Given the description of an element on the screen output the (x, y) to click on. 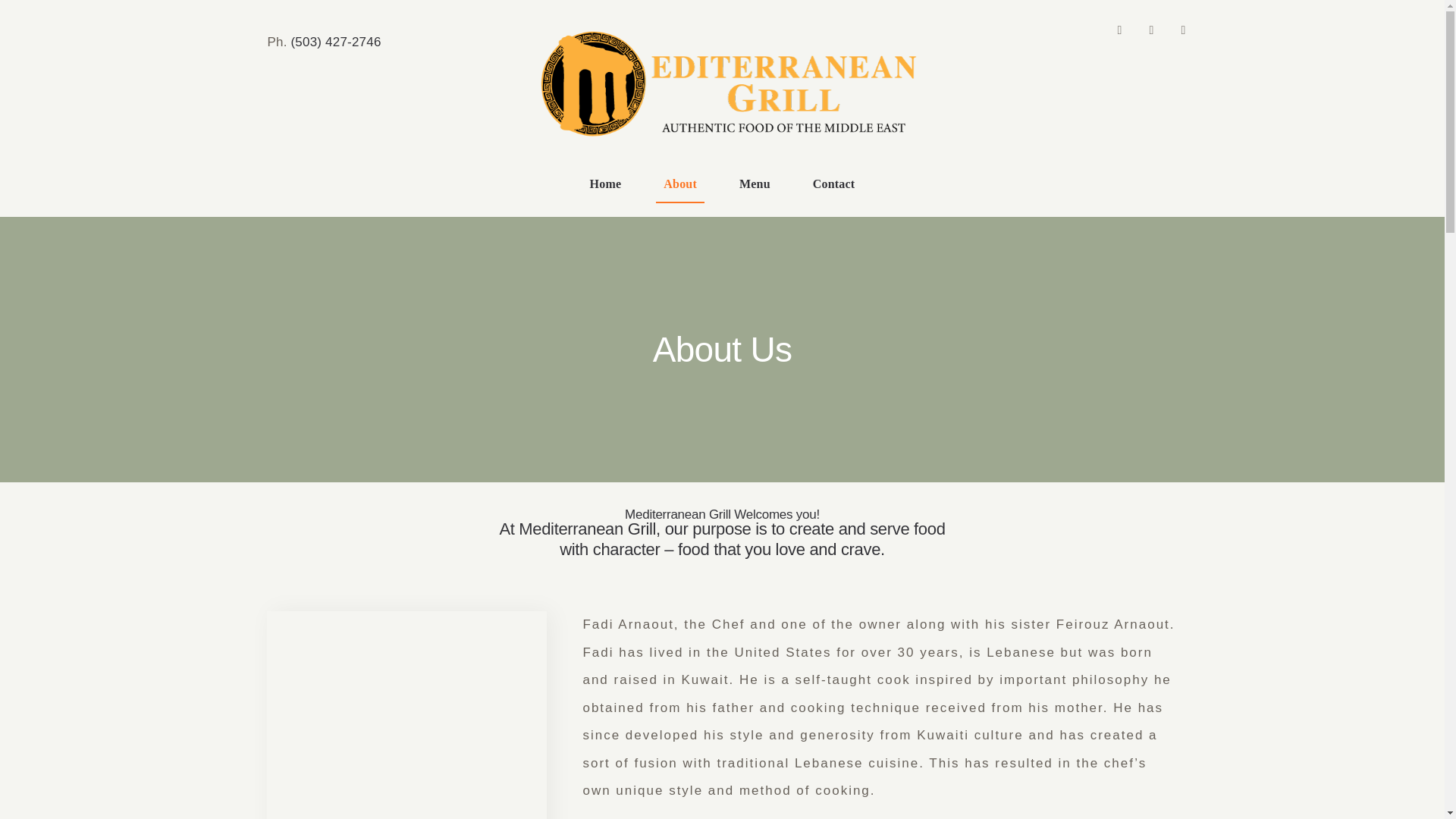
Email (1150, 30)
About (680, 185)
Home (605, 185)
Menu (754, 185)
Fadi-chef (406, 714)
Contact (834, 185)
Phone (1182, 30)
Facebook (1118, 30)
